Given the description of an element on the screen output the (x, y) to click on. 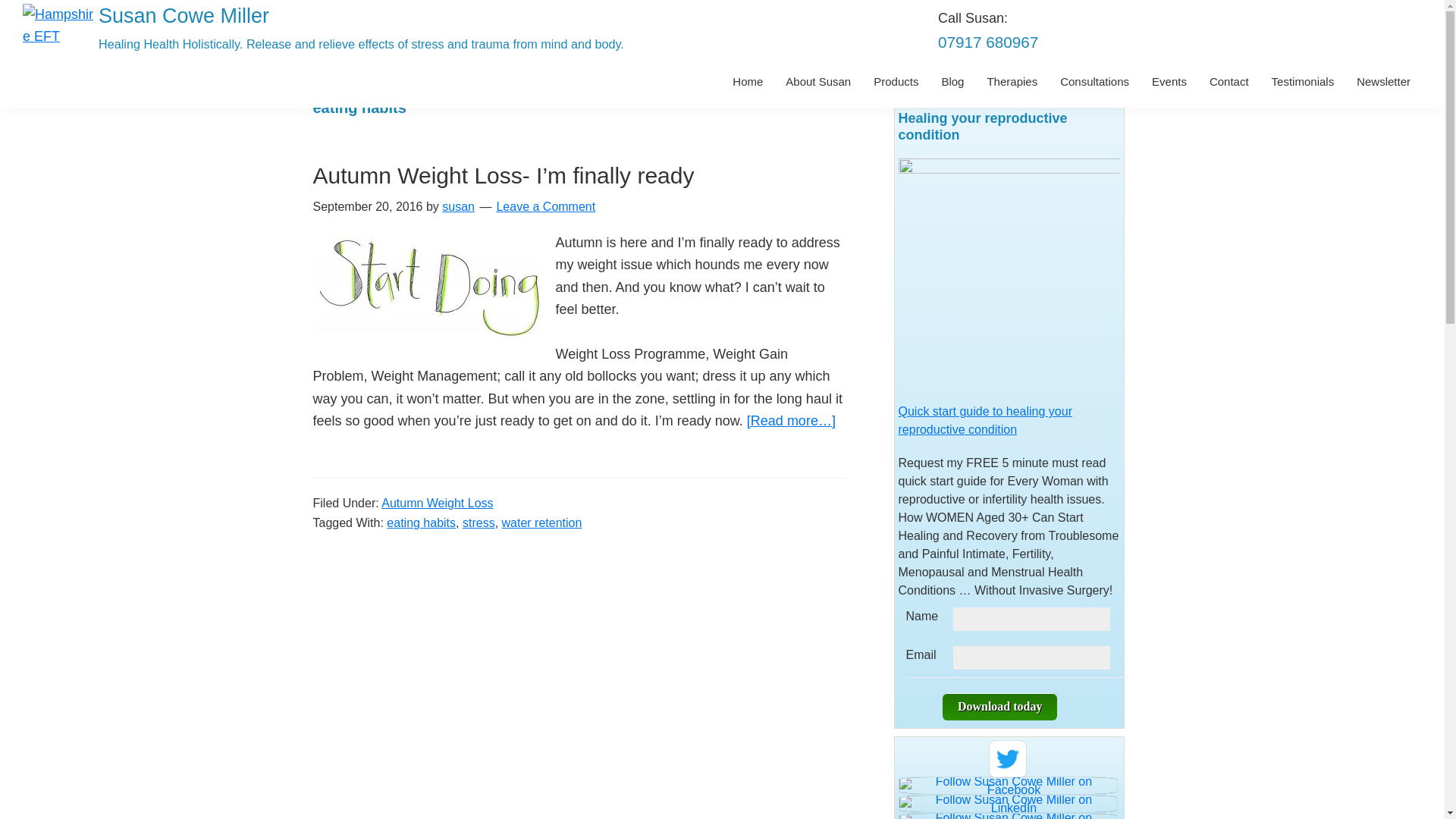
Blog (952, 81)
Follow Susan Cowe Miller on Facebook (1008, 785)
Products (895, 81)
Follow Susan Cowe Miller on Facebook (1007, 785)
Home (747, 81)
Consultations (1094, 81)
Follow Susan Cowe Miller on LinkedIn (1008, 803)
Newsletter (1383, 81)
Download today (1000, 706)
Follow Susan Cowe Miller on Twitter (1008, 759)
Follow Susan Cowe Miller on LinkedIn (1007, 803)
Follow Susan Cowe Miller on YouTube (1008, 817)
About Susan (817, 81)
Testimonials (1302, 81)
Events (1169, 81)
